Given the description of an element on the screen output the (x, y) to click on. 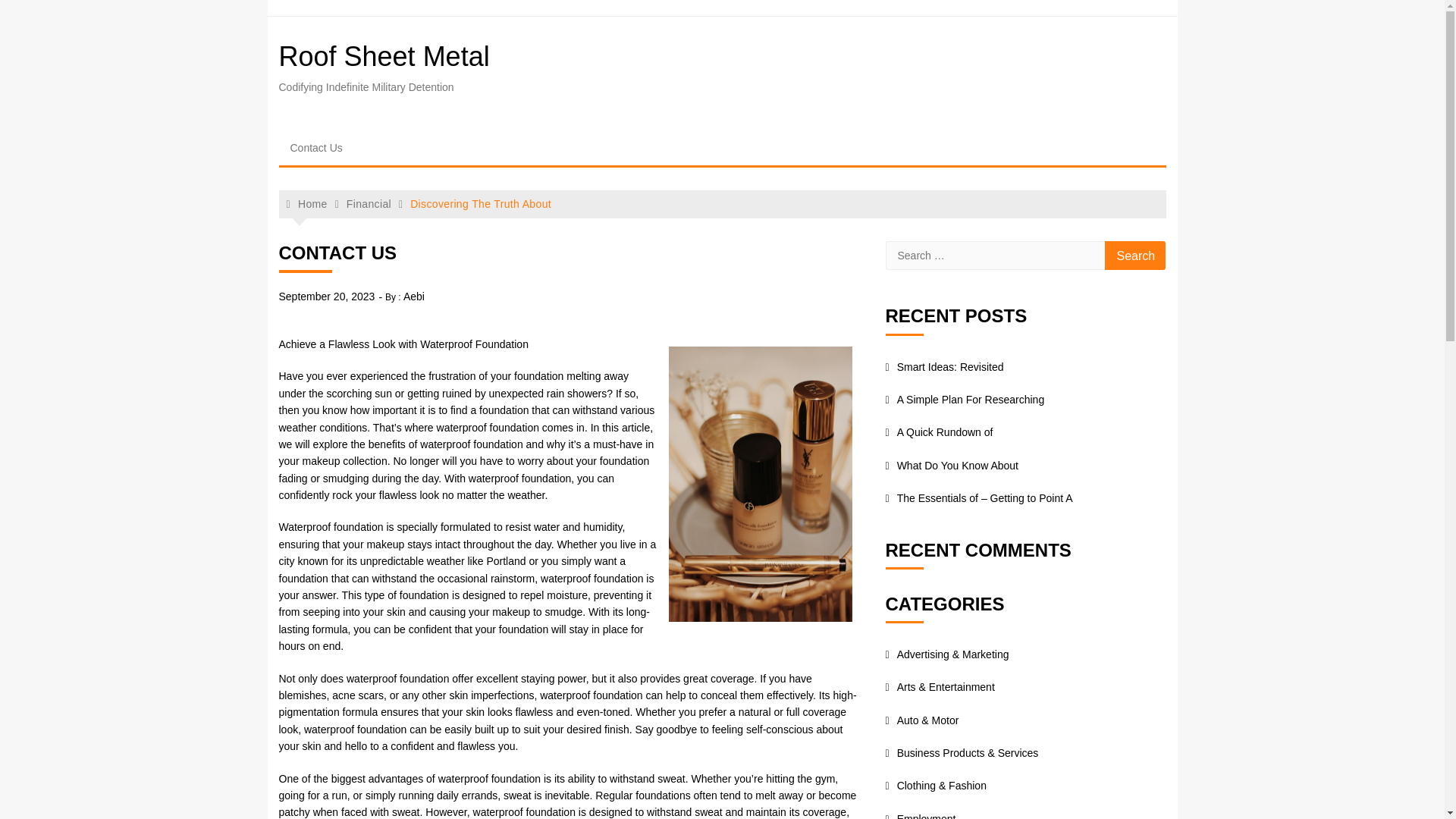
Contact Us (316, 147)
A Simple Plan For Researching (965, 399)
Search (1135, 255)
Employment (920, 816)
Smart Ideas: Revisited (944, 367)
September 20, 2023 (327, 296)
Roof Sheet Metal (384, 56)
What Do You Know About (951, 465)
Financial (368, 203)
A Quick Rundown of (938, 431)
Search (1135, 255)
Home (306, 203)
Search (1135, 255)
Aebi (414, 296)
